Given the description of an element on the screen output the (x, y) to click on. 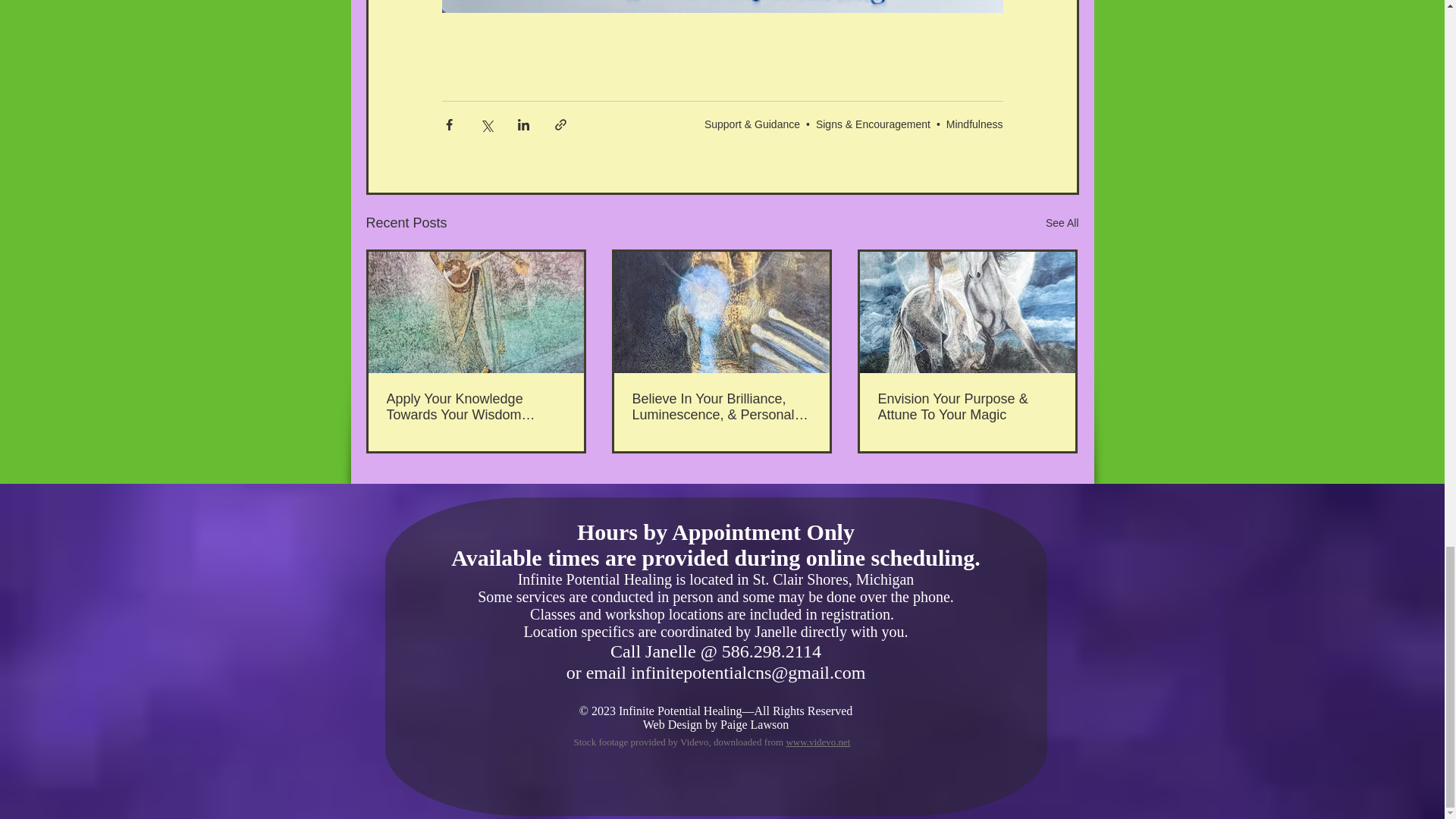
See All (1061, 223)
Mindfulness (974, 123)
